Given the description of an element on the screen output the (x, y) to click on. 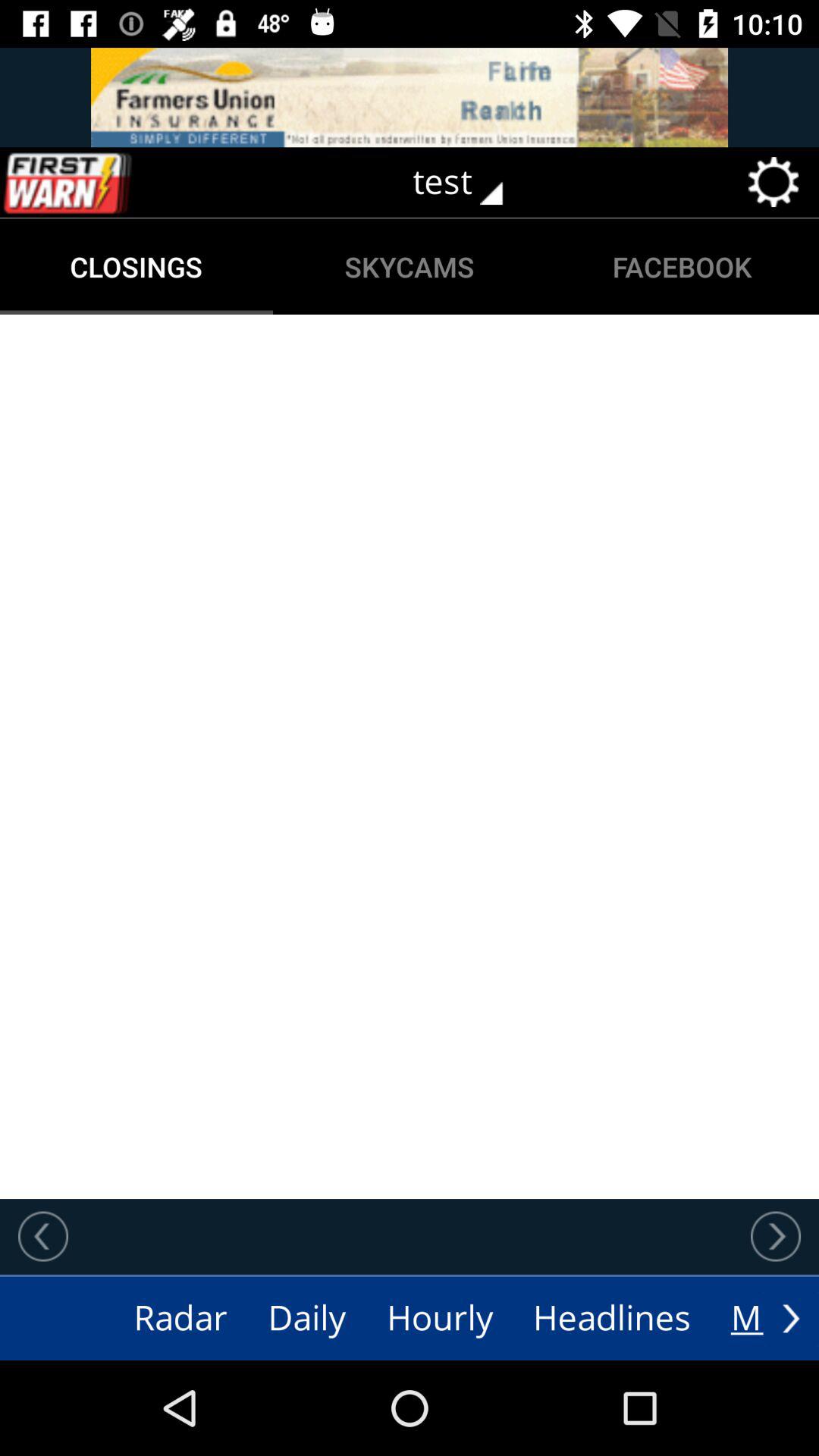
scroll to the test (468, 182)
